Given the description of an element on the screen output the (x, y) to click on. 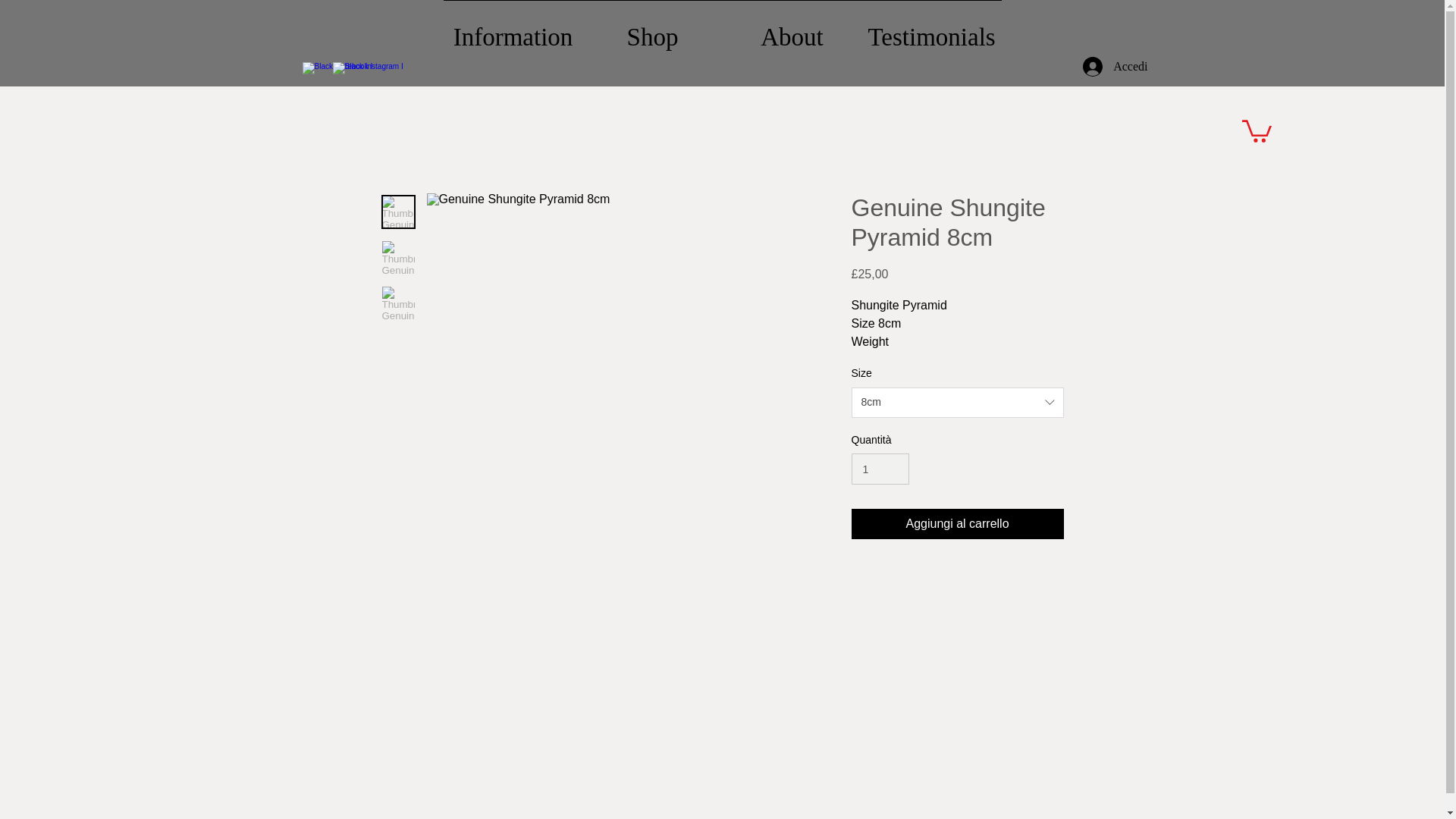
Shop (652, 30)
8cm (956, 402)
Accedi (1114, 66)
Information (512, 30)
1 (879, 468)
Aggiungi al carrello (956, 523)
Testimonials (931, 30)
About (791, 30)
